Given the description of an element on the screen output the (x, y) to click on. 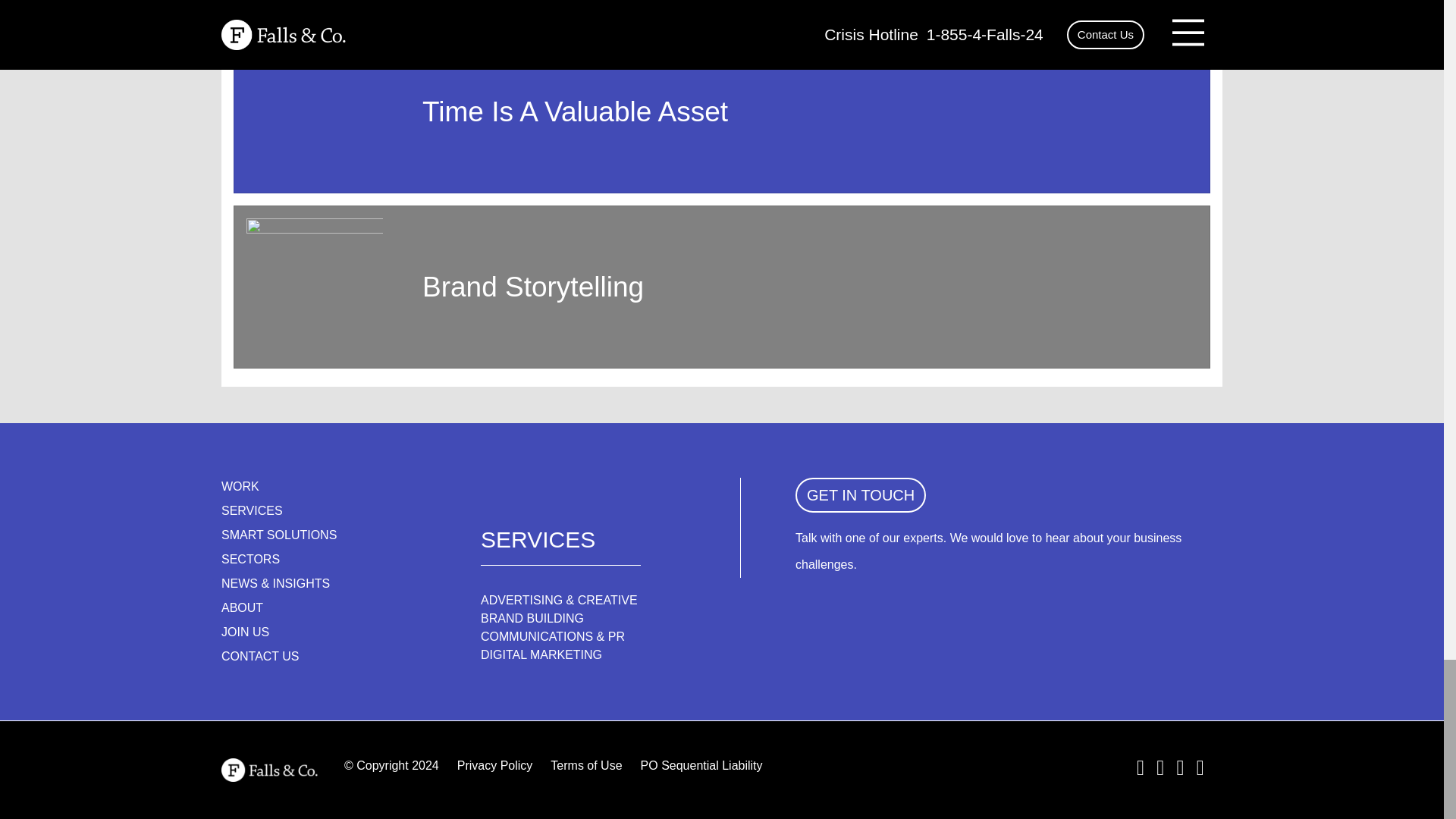
CONTACT US (260, 656)
WORK (240, 486)
ABOUT (242, 607)
Terms of Use (585, 765)
SMART SOLUTIONS (278, 535)
DIGITAL MARKETING (541, 654)
BRAND BUILDING (531, 617)
SERVICES (251, 511)
SECTORS (250, 559)
PO Sequential Liability (701, 765)
